Given the description of an element on the screen output the (x, y) to click on. 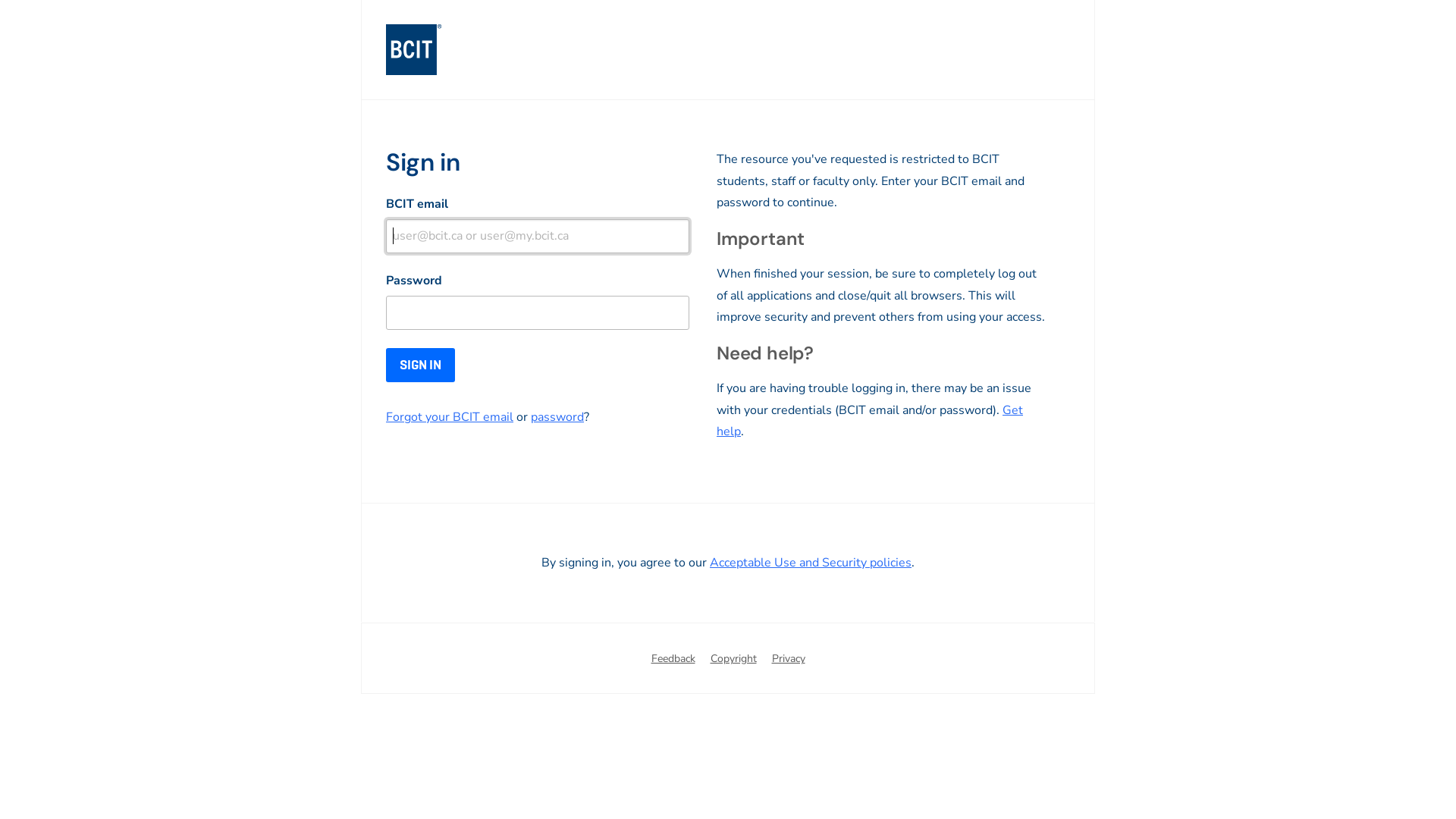
Forgot your BCIT email Element type: text (449, 416)
Sign in Element type: text (420, 365)
Copyright Element type: text (732, 658)
Feedback Element type: text (672, 658)
password Element type: text (556, 416)
Privacy Element type: text (788, 658)
Get help Element type: text (869, 420)
Acceptable Use and Security policies Element type: text (810, 561)
